Given the description of an element on the screen output the (x, y) to click on. 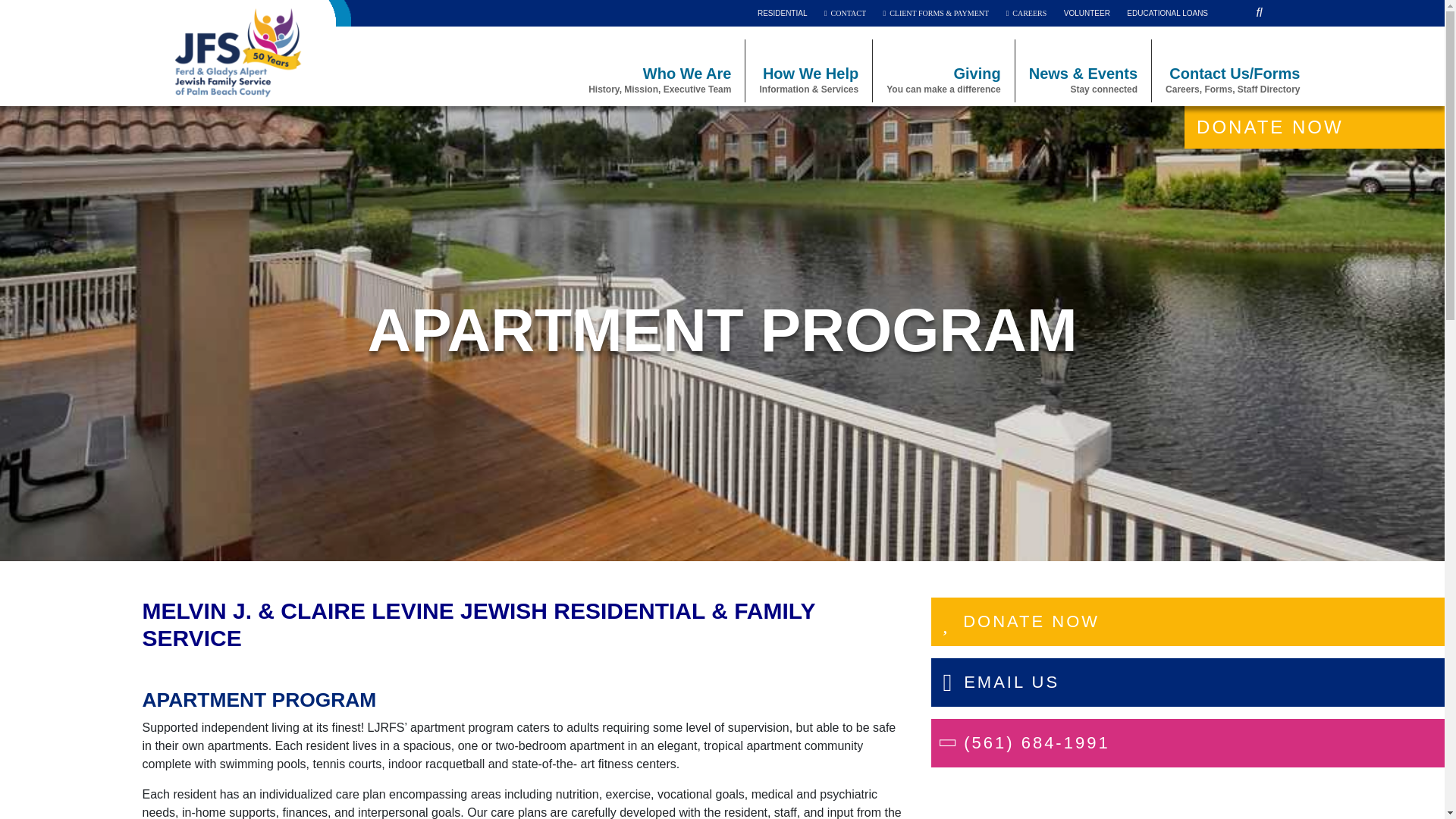
VOLUNTEER (1086, 13)
Careers (943, 79)
EDUCATIONAL LOANS (1026, 13)
CAREERS (1167, 13)
Educational Loans (1026, 13)
Residential (1167, 13)
Contact (782, 13)
RESIDENTIAL (845, 13)
CONTACT (782, 13)
Who We AreHistory, Mission, Executive Team (845, 13)
Volunteer (659, 79)
